Given the description of an element on the screen output the (x, y) to click on. 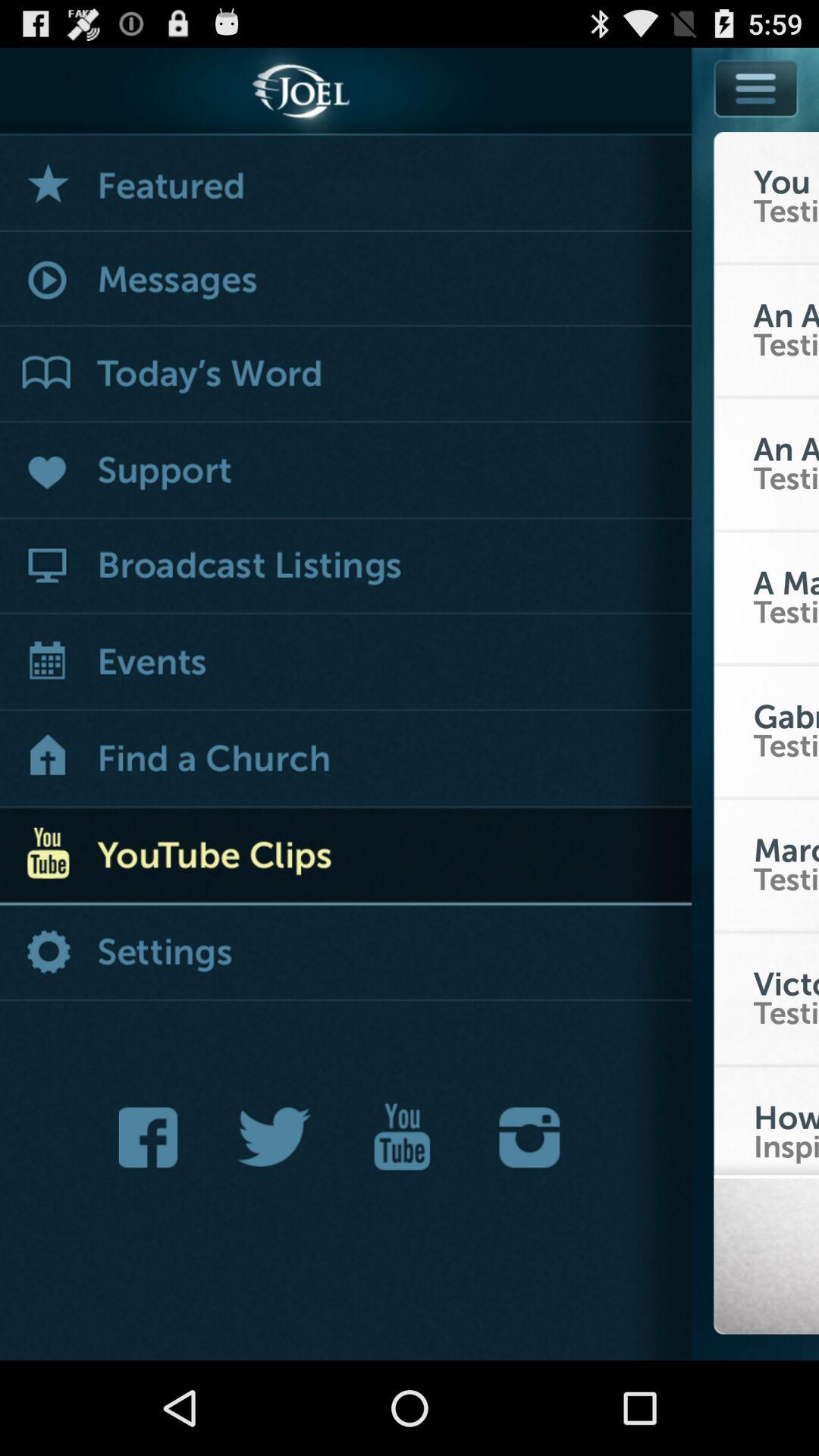
view lists of broadcasts (345, 566)
